Given the description of an element on the screen output the (x, y) to click on. 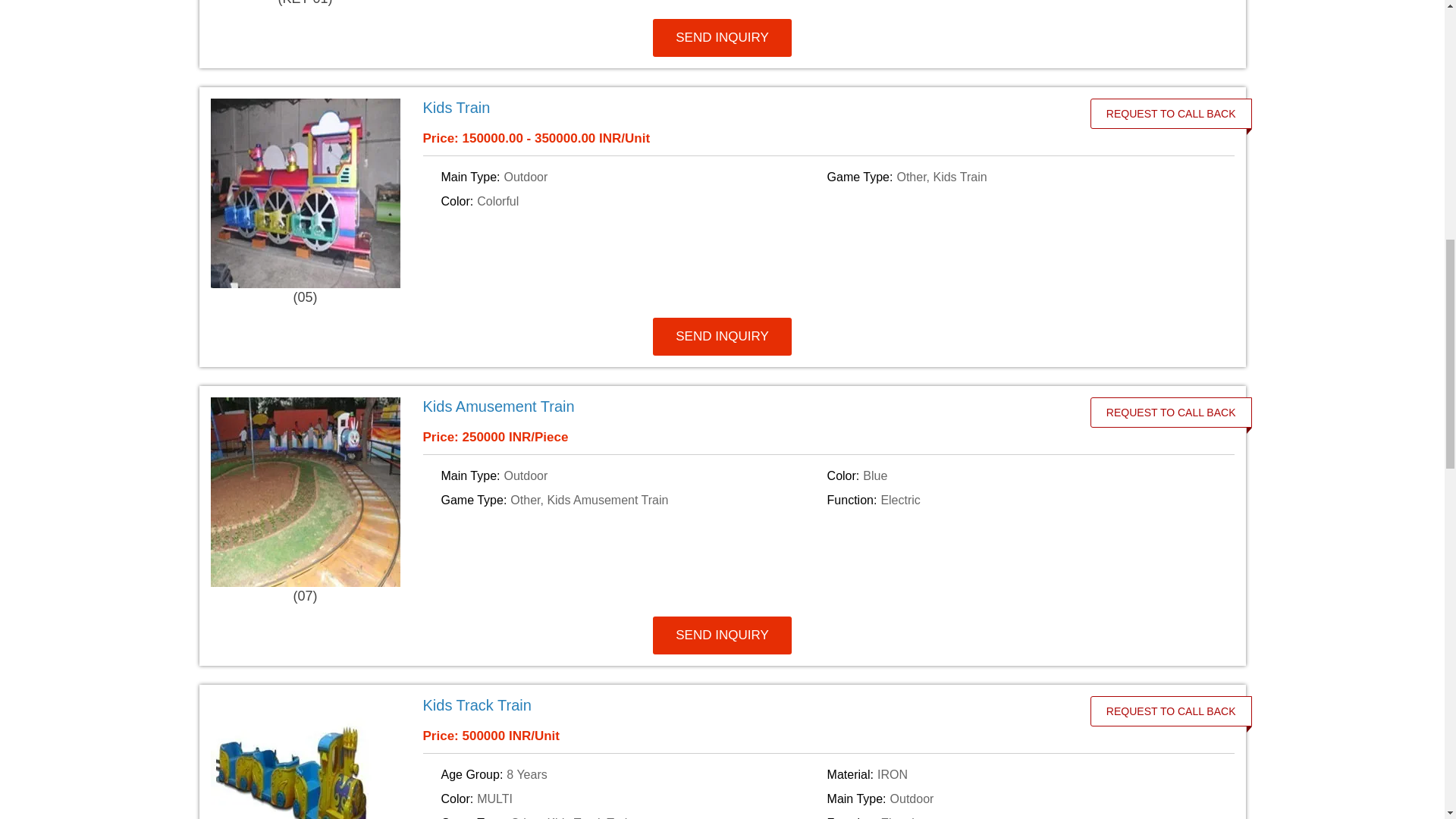
Kids Amusement Train (747, 406)
Age Group: 8 Years (631, 774)
Color: Blue (1017, 475)
Main Type: Outdoor (631, 475)
Main Type: Outdoor (631, 177)
Game Type: Other, Kids Amusement Train (631, 500)
Kids Track Train (747, 705)
Function: Electric (1017, 500)
Game Type: Other, Kids Train (1017, 177)
SEND INQUIRY (722, 336)
